Given the description of an element on the screen output the (x, y) to click on. 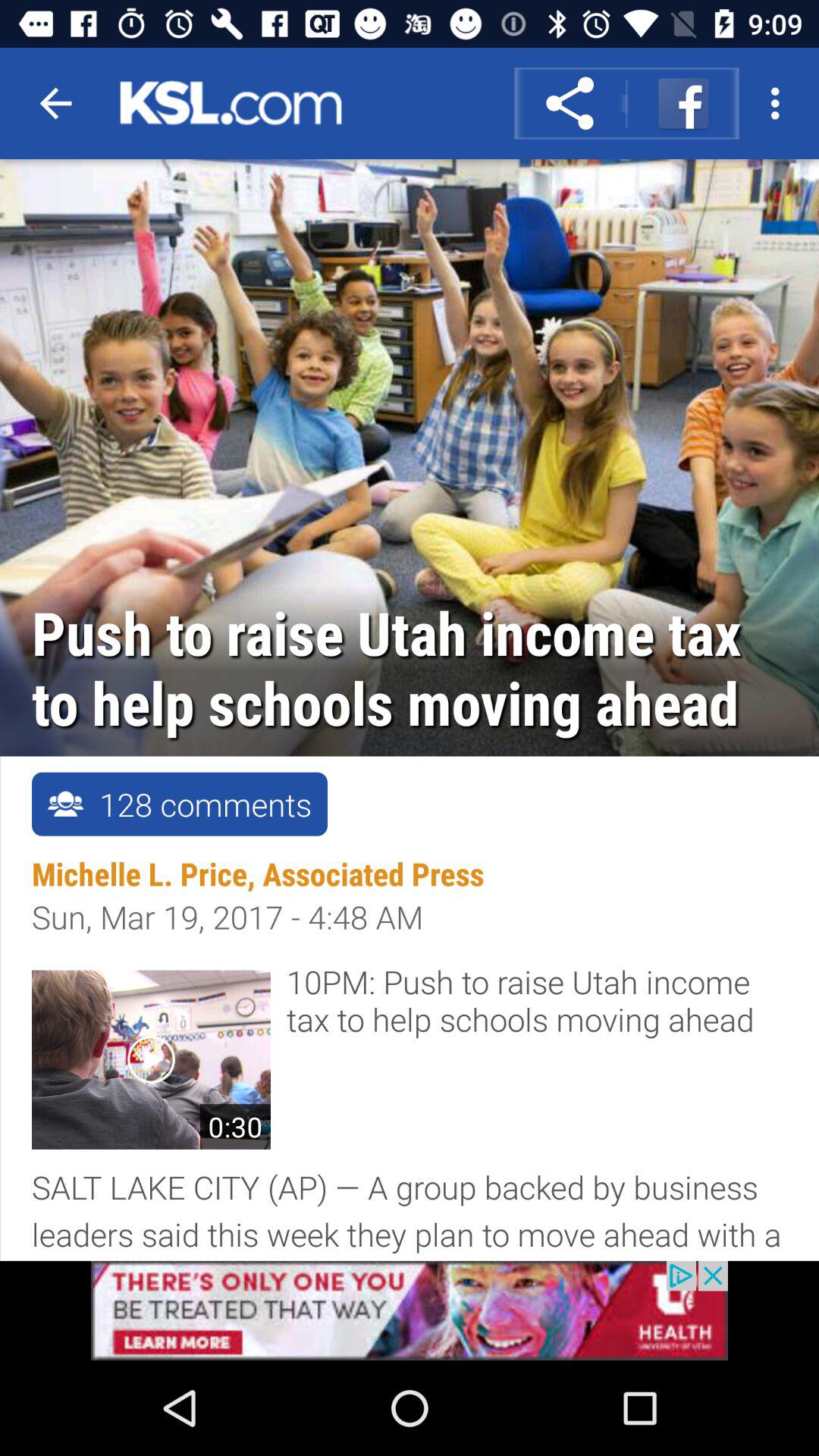
advertisement (409, 1310)
